Given the description of an element on the screen output the (x, y) to click on. 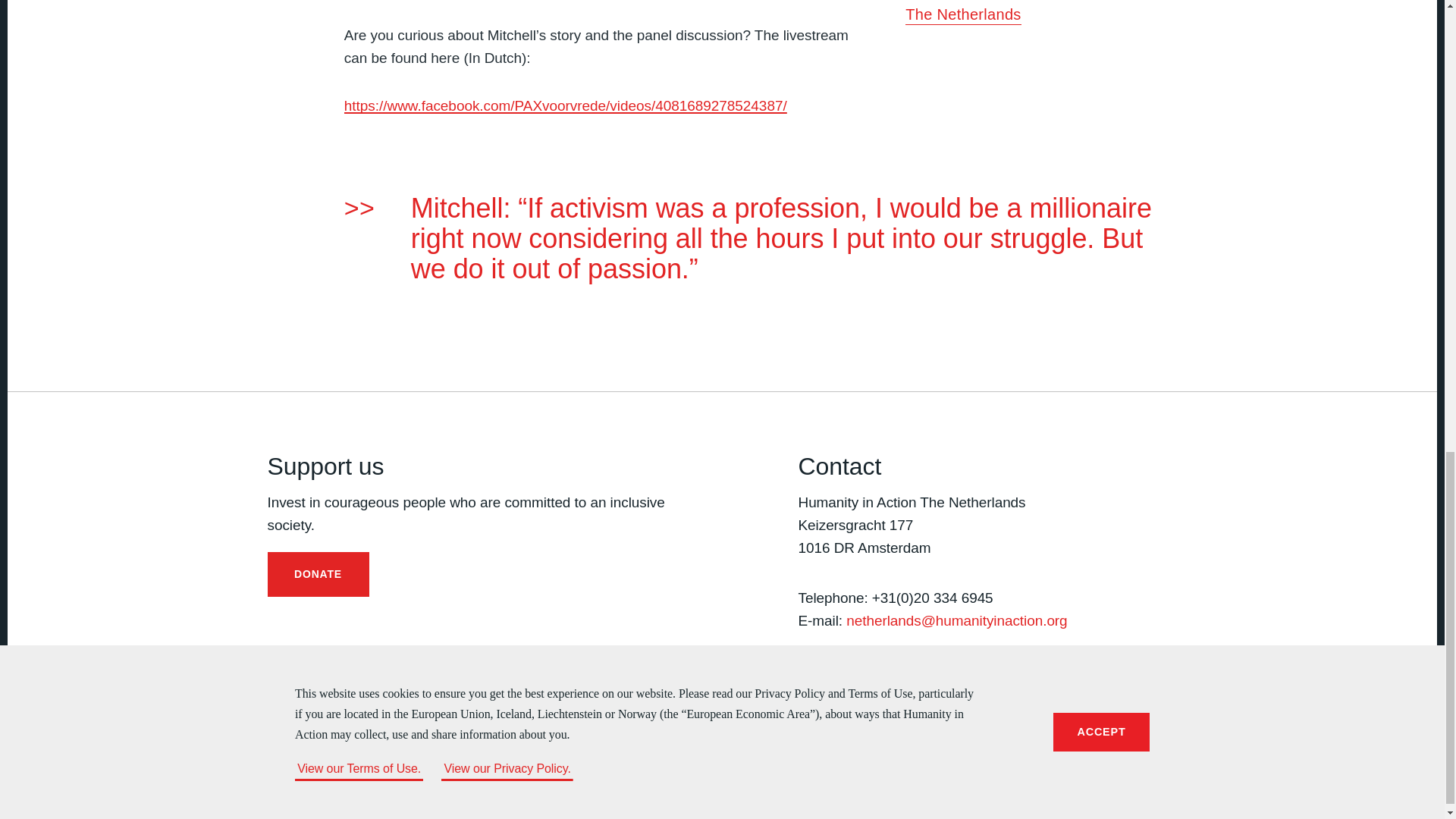
YOUTUBE (899, 679)
INSTAGRAM (868, 679)
TWITTER (837, 679)
FACEBOOK (806, 679)
